Given the description of an element on the screen output the (x, y) to click on. 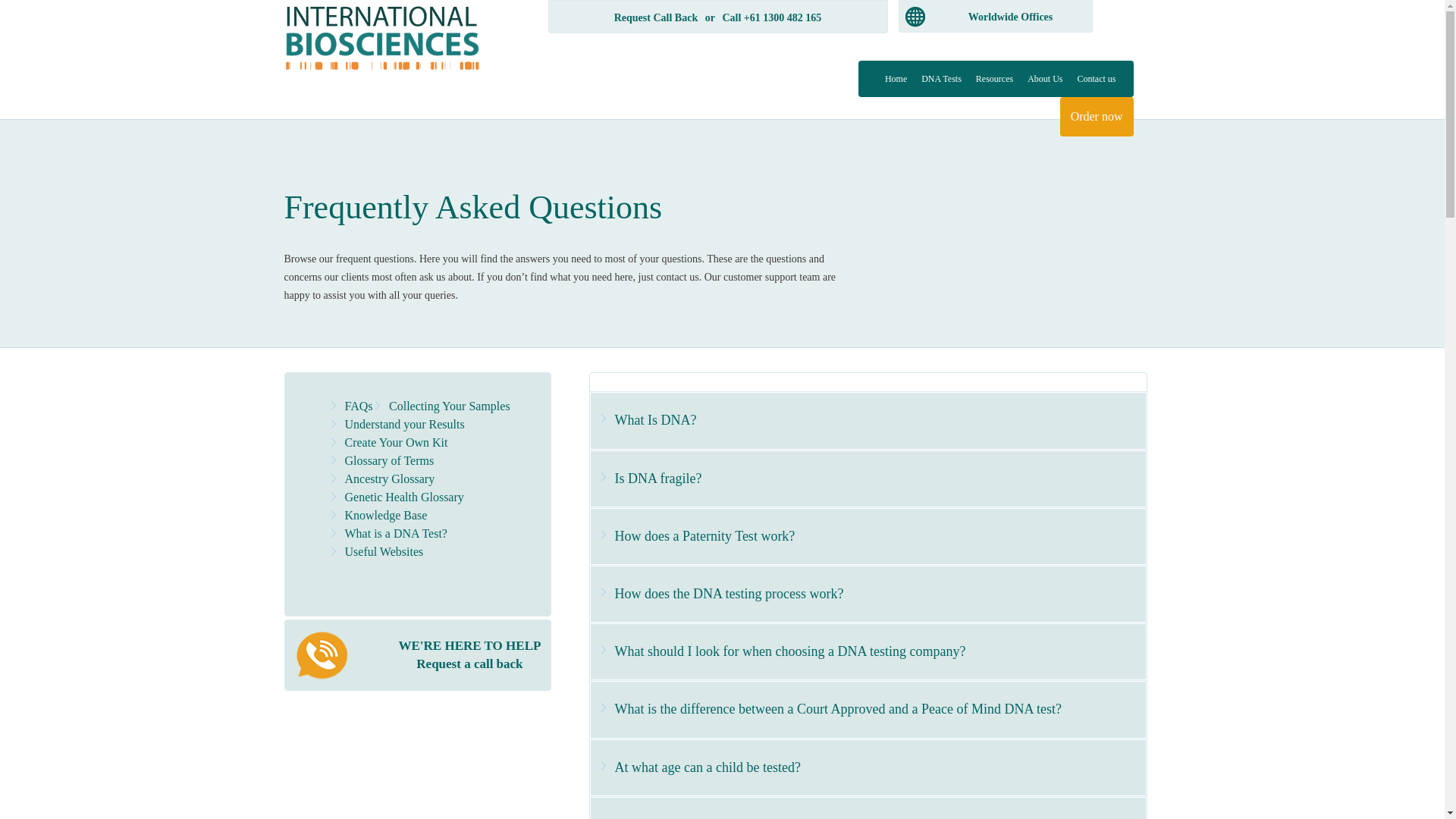
At what age can a child be tested? Element type: text (867, 767)
What Is DNA? Element type: text (867, 420)
Request Call Back Element type: text (655, 17)
Collecting Your Samples Element type: text (449, 405)
Home Element type: text (897, 79)
Glossary of Terms Element type: text (388, 460)
Order now Element type: text (1096, 116)
How does the DNA testing process work? Element type: text (867, 593)
WE'RE HERE TO HELP
Request a call back Element type: text (417, 655)
Useful Websites Element type: text (383, 551)
Is DNA fragile? Element type: text (867, 478)
Contact us Element type: text (1096, 79)
Understand your Results Element type: text (404, 423)
Resources Element type: text (995, 79)
Call +61 1300 482 165 Element type: text (771, 17)
Knowledge Base Element type: text (385, 514)
Create Your Own Kit Element type: text (395, 442)
Worldwide Offices Element type: text (1010, 16)
FAQs Element type: text (358, 405)
About Us Element type: text (1046, 79)
How does a Paternity Test work? Element type: text (867, 536)
Genetic Health Glossary Element type: text (403, 496)
DNA Tests Element type: text (942, 79)
What is a DNA Test? Element type: text (395, 533)
What should I look for when choosing a DNA testing company? Element type: text (867, 651)
Ancestry Glossary Element type: text (389, 478)
